Given the description of an element on the screen output the (x, y) to click on. 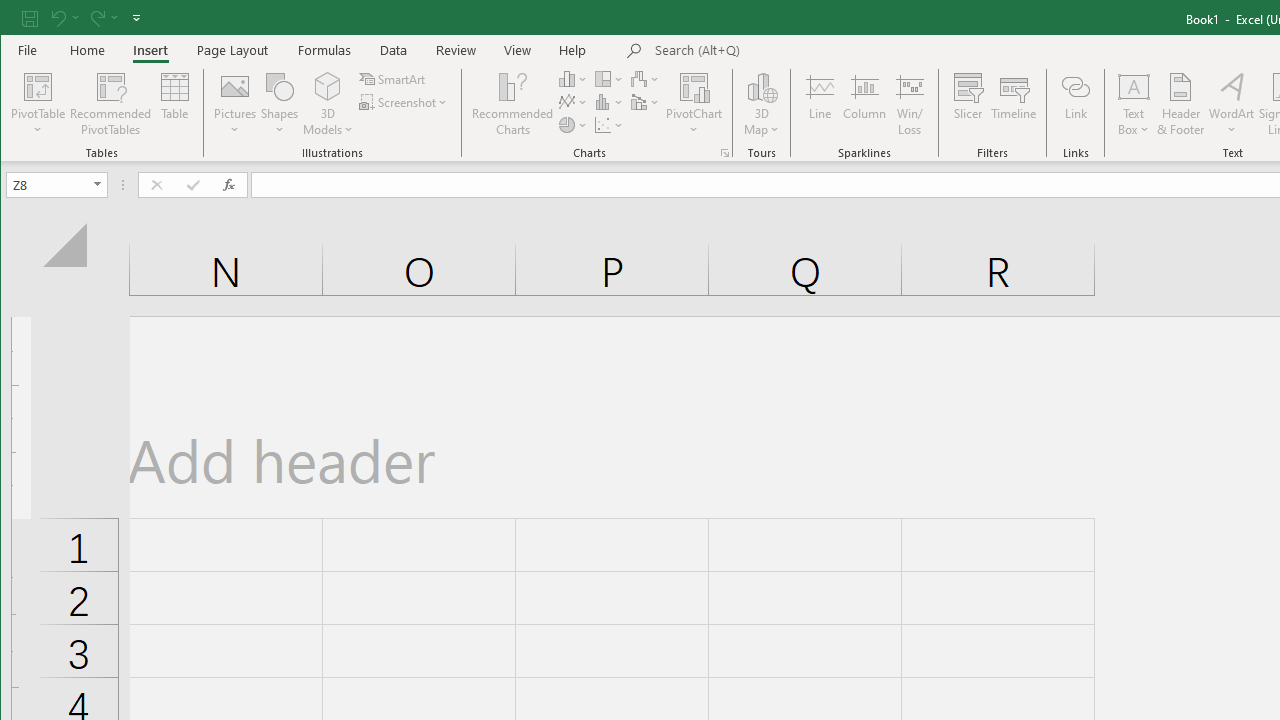
Shapes (279, 104)
Pictures (235, 104)
Text Box (1133, 104)
Screenshot (404, 101)
Table (174, 104)
SmartArt... (393, 78)
Line (819, 104)
PivotChart (694, 104)
